Given the description of an element on the screen output the (x, y) to click on. 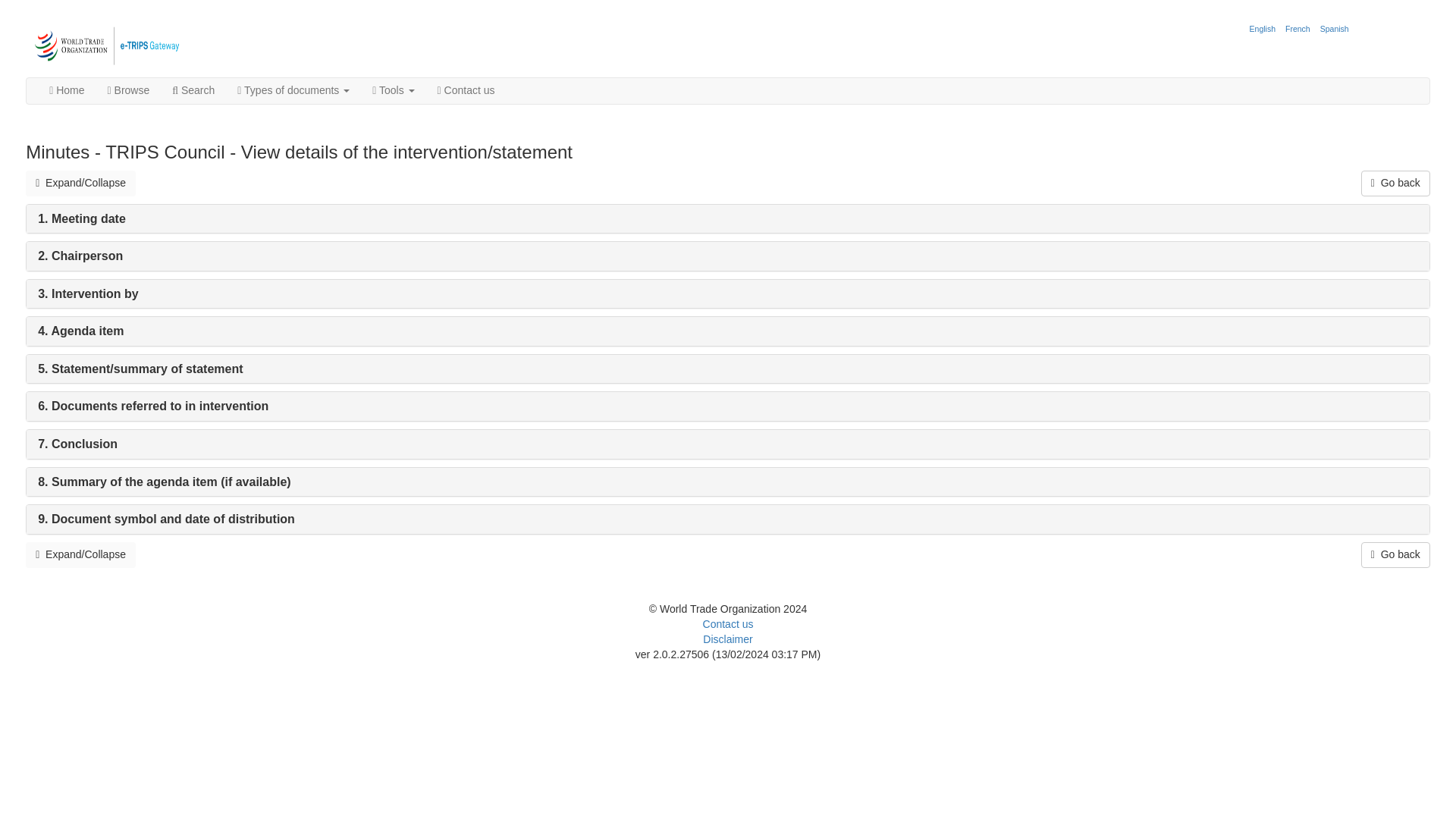
Browse (128, 90)
French (1297, 29)
Home (66, 90)
Tools (393, 90)
Search (192, 90)
Types of documents (293, 90)
Spanish (1334, 29)
English (1262, 29)
